Given the description of an element on the screen output the (x, y) to click on. 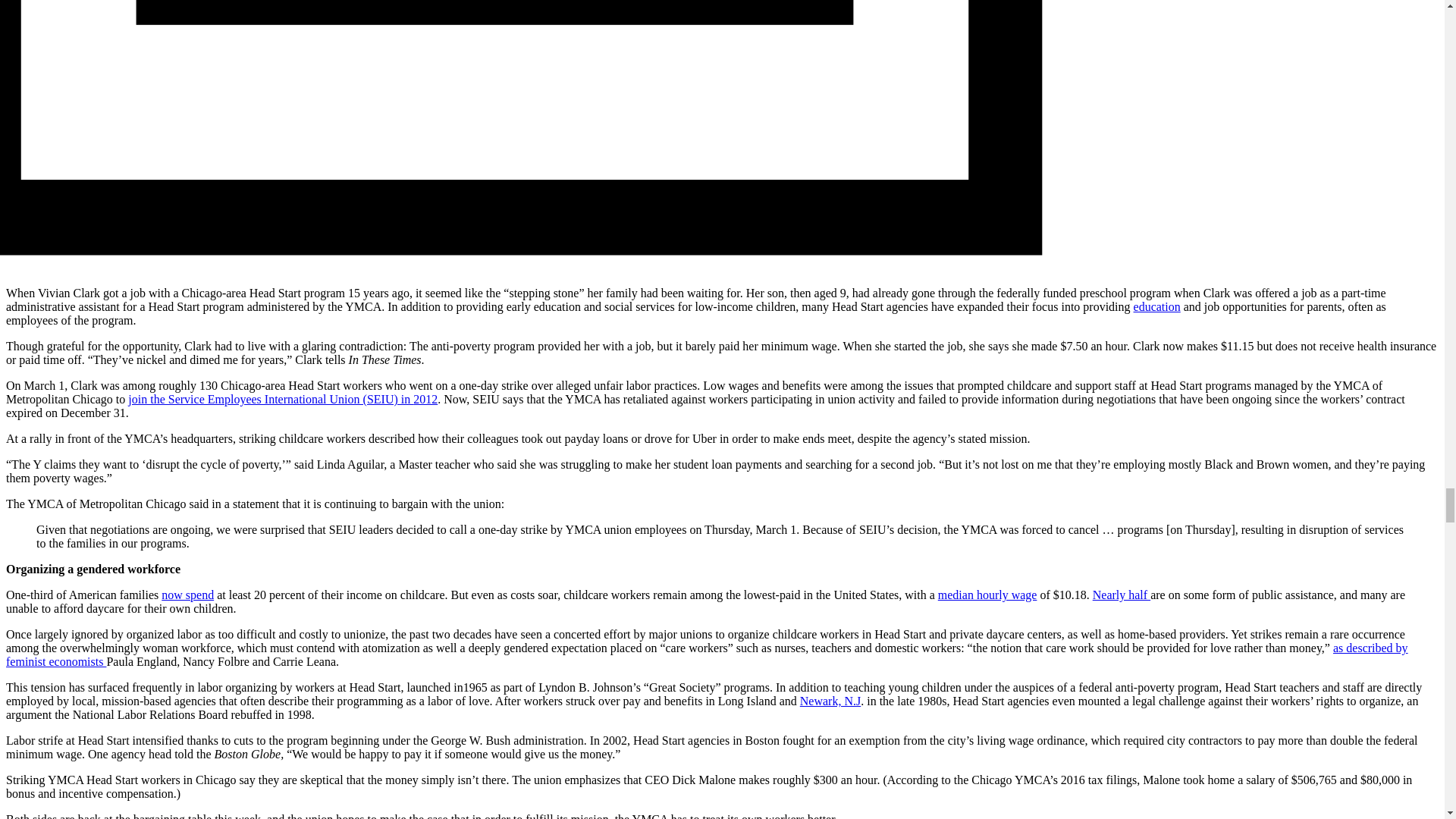
education (1157, 306)
Nearly half (1121, 594)
now spend (187, 594)
median hourly wage (986, 594)
